Given the description of an element on the screen output the (x, y) to click on. 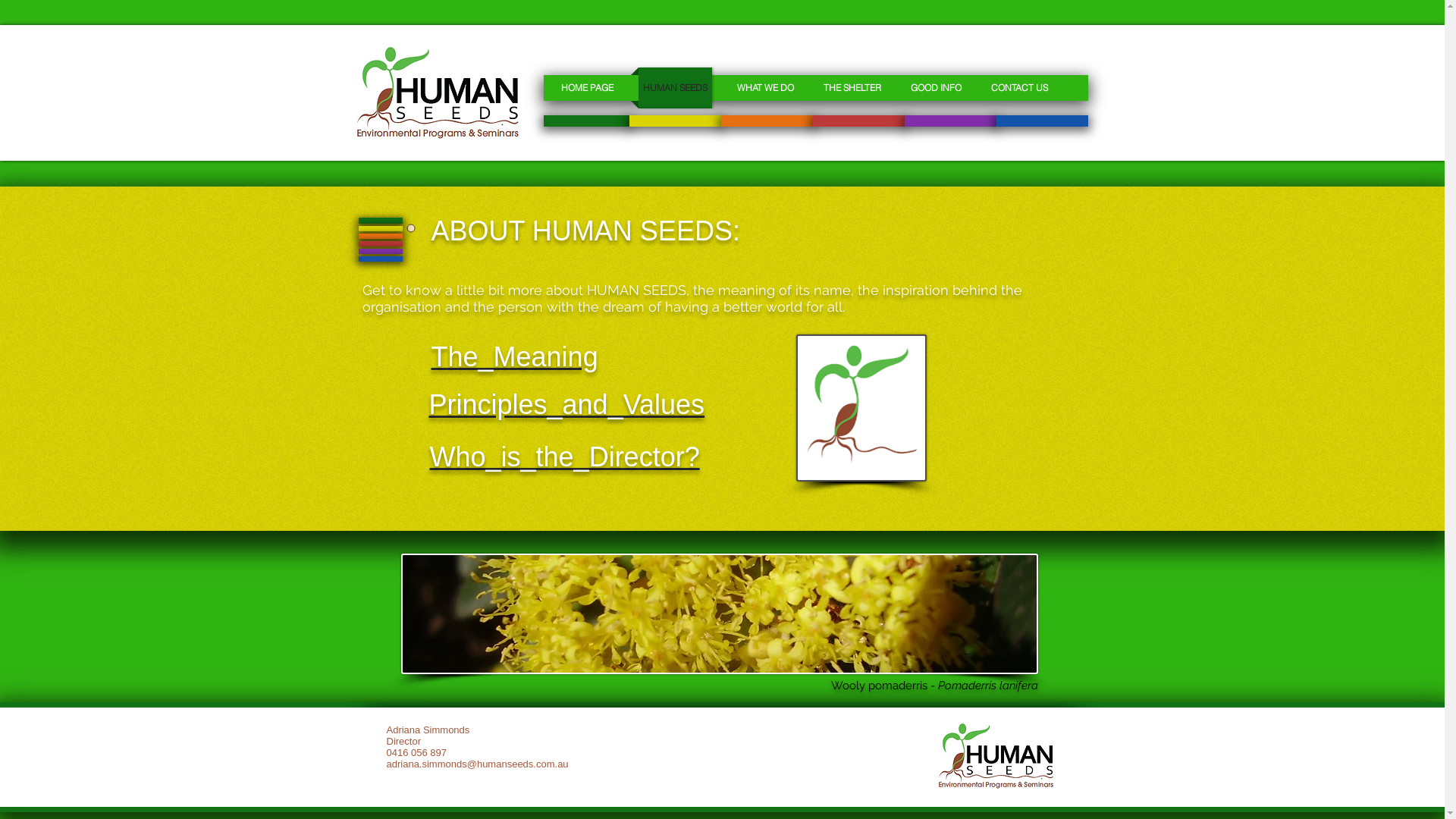
GOOD INFO Element type: text (934, 87)
WHAT WE DO Element type: text (765, 87)
humanseeds logo v3.png Element type: hover (996, 754)
HUMAN SEEDS Element type: text (674, 87)
THE SHELTER Element type: text (852, 87)
adriana.simmonds@humanseeds.com.au Element type: text (477, 763)
HOME PAGE Element type: text (587, 87)
CONTACT US Element type: text (1018, 87)
Principles_and_Values Element type: text (567, 404)
Who_is_the_Director? Element type: text (564, 456)
The_Meaning Element type: text (513, 356)
humanseeds logo v3.png Element type: hover (438, 91)
